Given the description of an element on the screen output the (x, y) to click on. 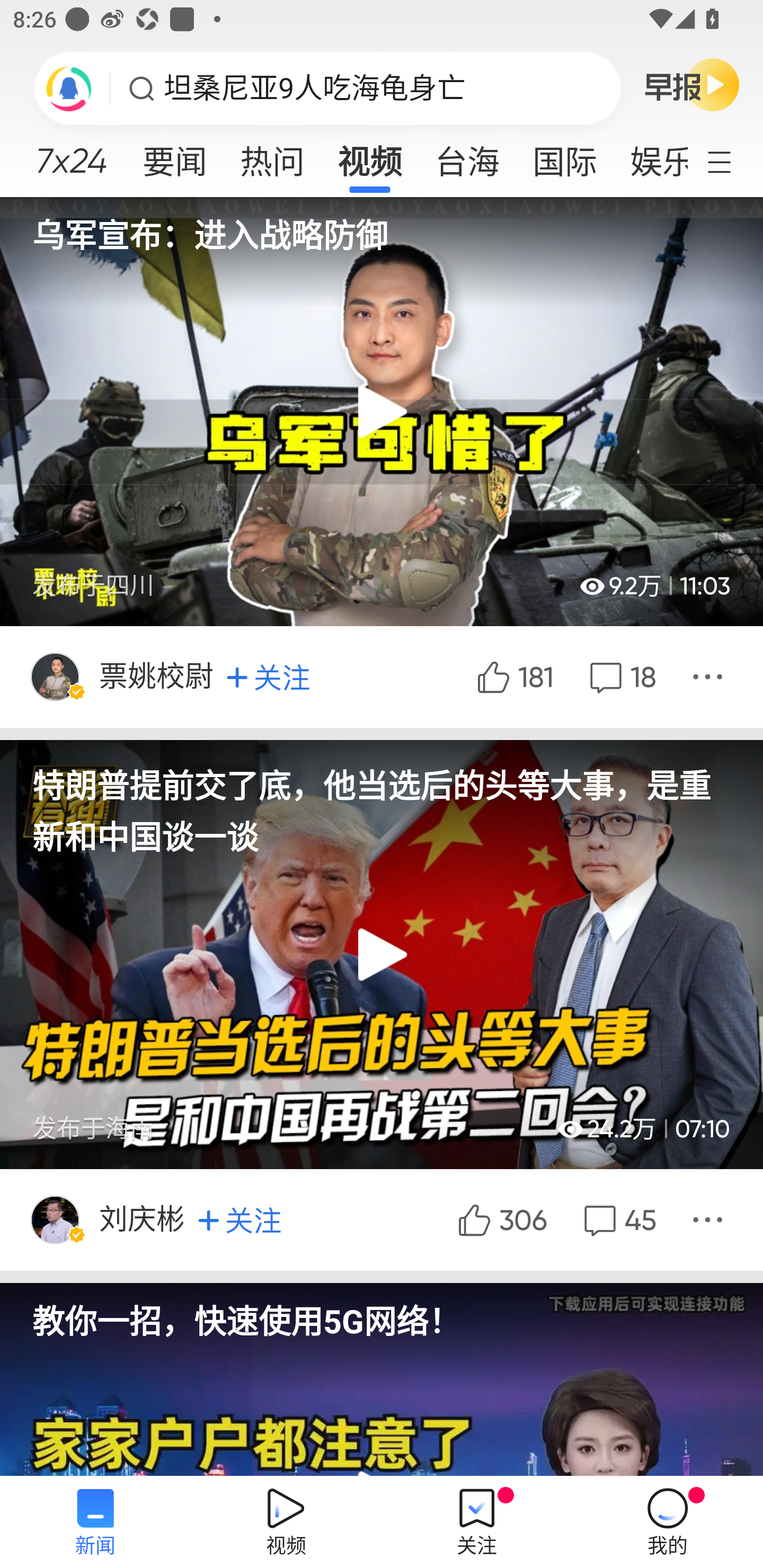
早晚报 (691, 84)
刷新 (68, 88)
坦桑尼亚9人吃海龟身亡 (314, 88)
7x24 (70, 154)
要闻 (174, 155)
热问 (272, 155)
视频 (369, 155)
台海 (466, 155)
国际 (564, 155)
娱乐 (650, 155)
 定制频道 (731, 160)
乌军宣布：进入战略防御 (381, 226)
181赞 (513, 676)
评论  18 (620, 676)
分享  (709, 676)
票姚校尉 (157, 676)
关注 (268, 677)
特朗普提前交了底，他当选后的头等大事，是重新和中国谈一谈 (381, 799)
306赞 (500, 1219)
评论  45 (617, 1219)
分享  (709, 1219)
刘庆彬 (143, 1219)
关注 (239, 1219)
教你一招，快速使用5G网络！ (381, 1311)
